Given the description of an element on the screen output the (x, y) to click on. 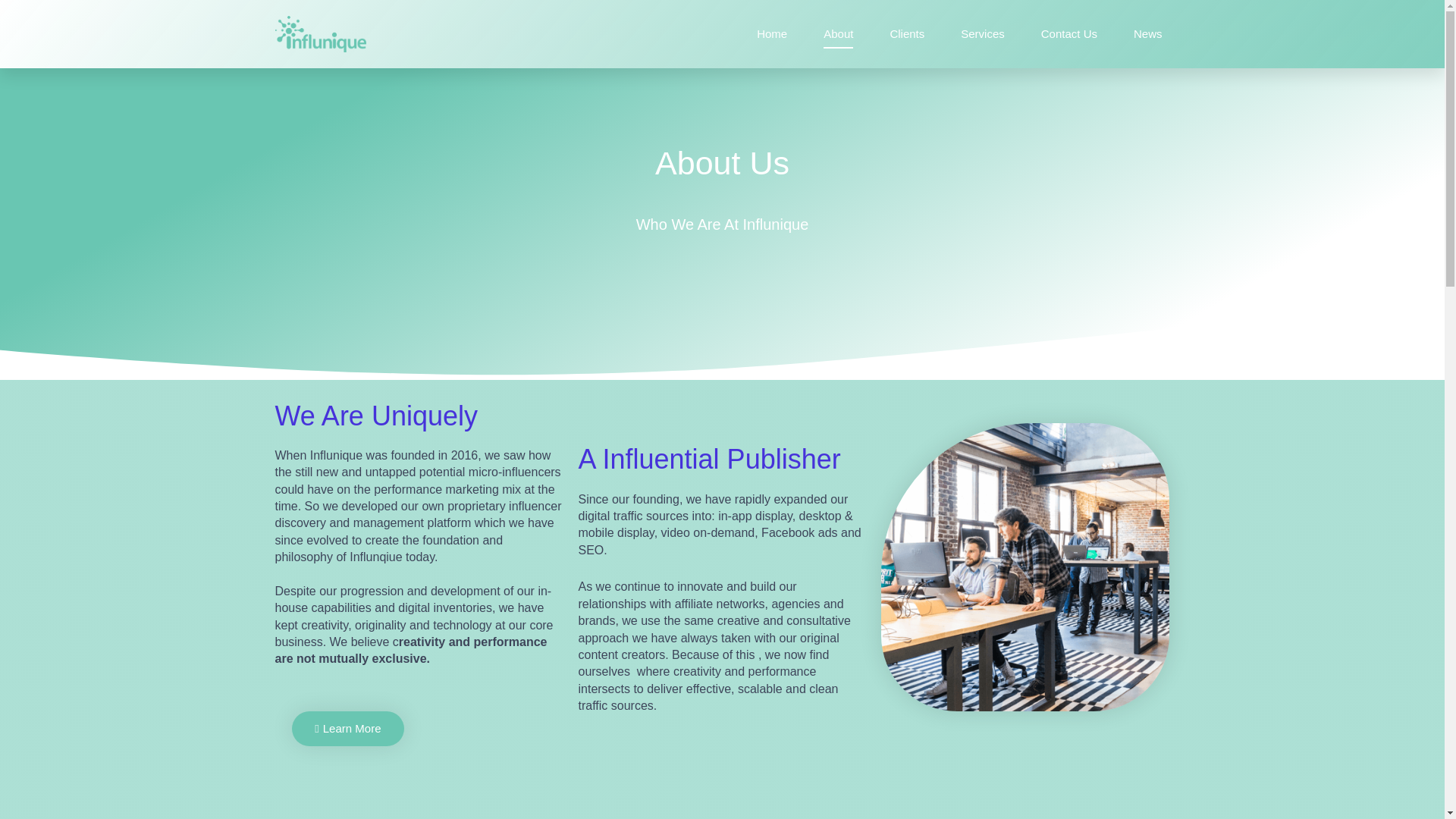
Contact Us (1069, 33)
Clients (906, 33)
About (838, 33)
Home (772, 33)
Learn More (347, 728)
Services (982, 33)
News (1147, 33)
